Given the description of an element on the screen output the (x, y) to click on. 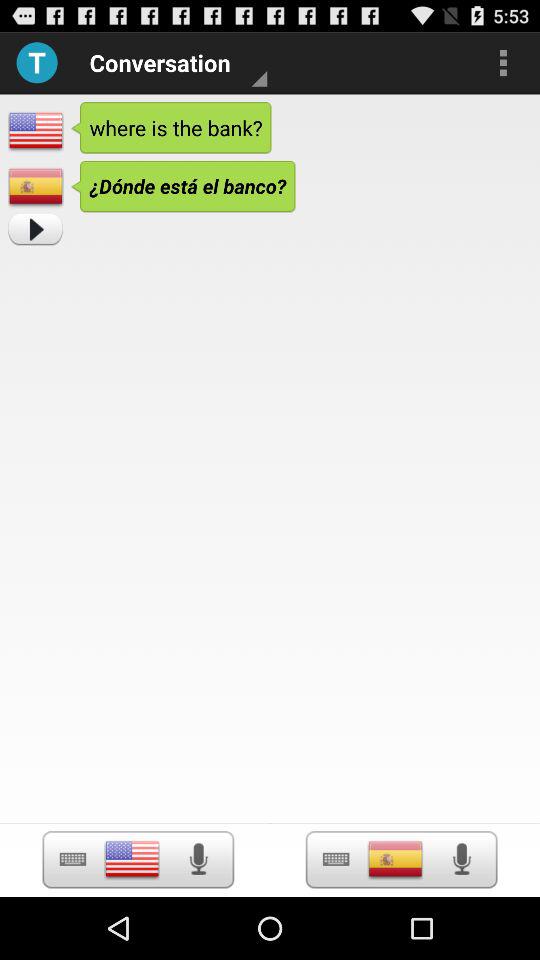
turn on microphone (461, 859)
